Given the description of an element on the screen output the (x, y) to click on. 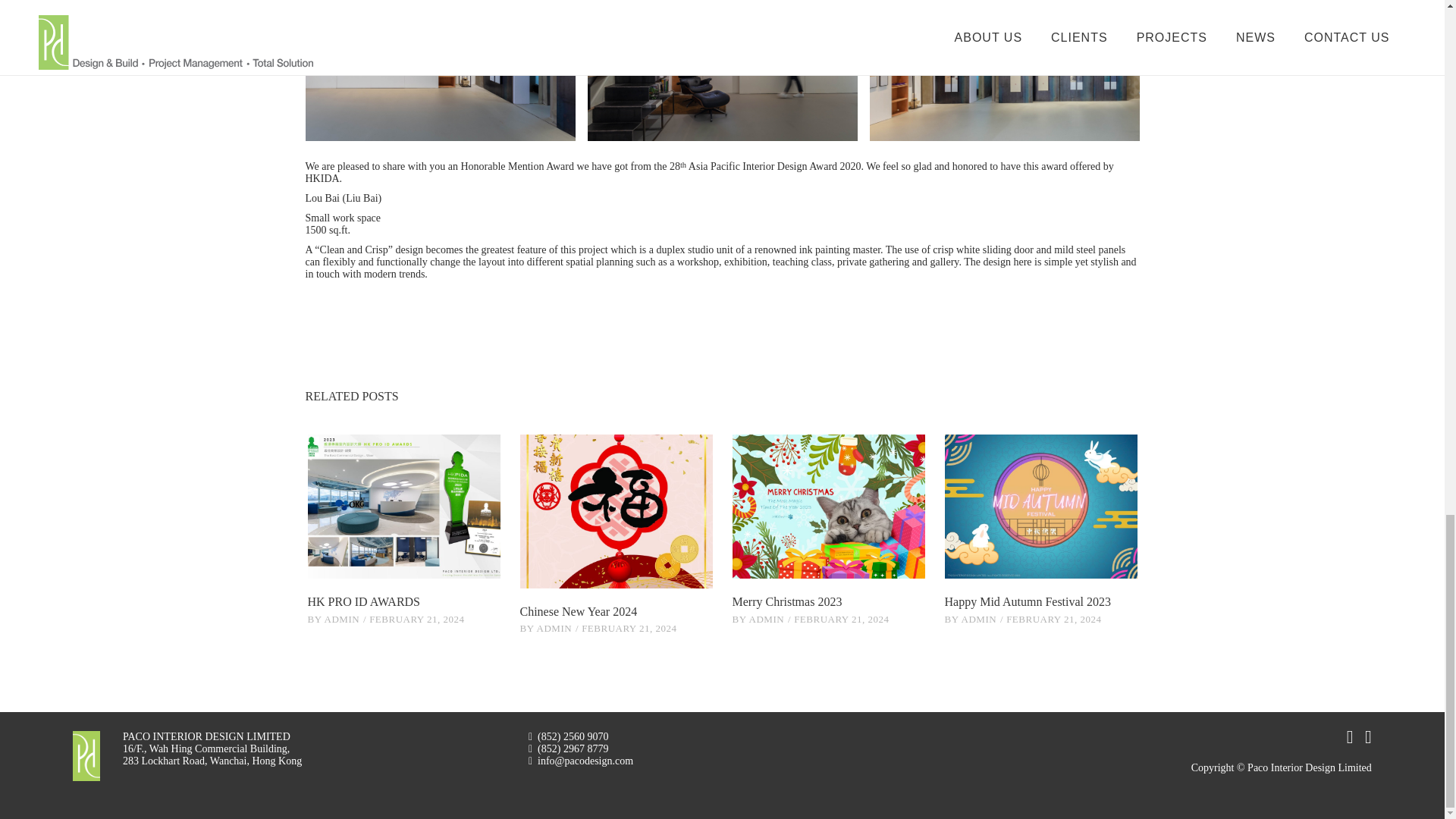
Merry Christmas 2023 (828, 506)
Happy Mid Autumn Festival 2023 (1040, 506)
Happy Mid Autumn Festival 2023 (1028, 601)
HK PRO ID AWARDS (403, 506)
HK PRO ID AWARDS (363, 601)
Chinese New Year 2024 (578, 611)
Merry Christmas 2023 (787, 601)
Chinese New Year 2024 (616, 511)
